Given the description of an element on the screen output the (x, y) to click on. 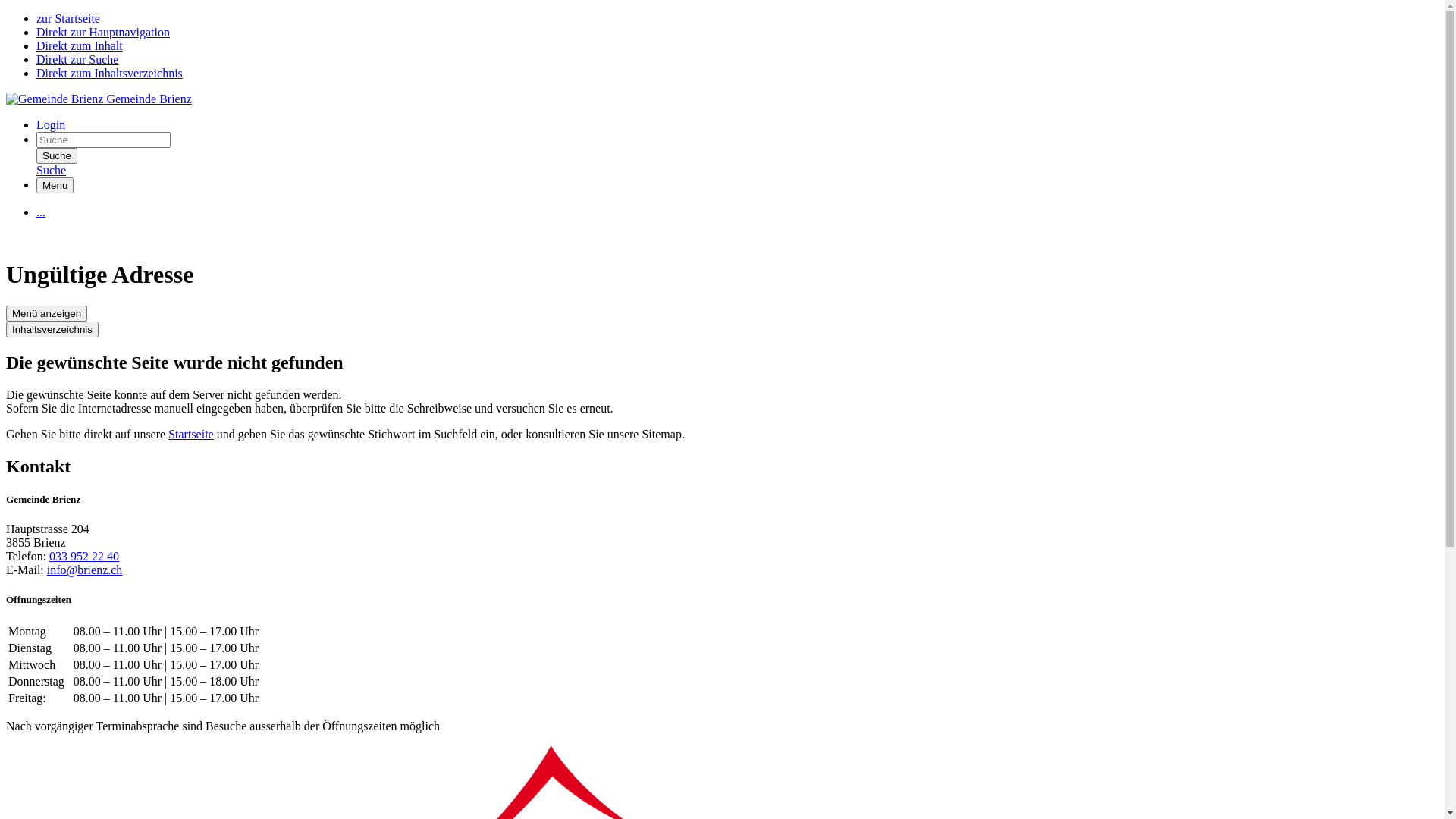
Suche Element type: text (50, 169)
Direkt zur Hauptnavigation Element type: text (102, 31)
Direkt zur Suche Element type: text (77, 59)
Menu Element type: text (54, 185)
Login Element type: text (50, 124)
Gemeinde Brienz Element type: text (98, 98)
Suche Element type: text (56, 155)
info@brienz.ch Element type: text (84, 569)
Direkt zum Inhalt Element type: text (79, 45)
Startseite Element type: text (190, 433)
... Element type: text (40, 211)
Inhaltsverzeichnis Element type: text (52, 329)
Direkt zum Inhaltsverzeichnis Element type: text (109, 72)
zur Startseite Element type: text (68, 18)
033 952 22 40 Element type: text (84, 555)
